Given the description of an element on the screen output the (x, y) to click on. 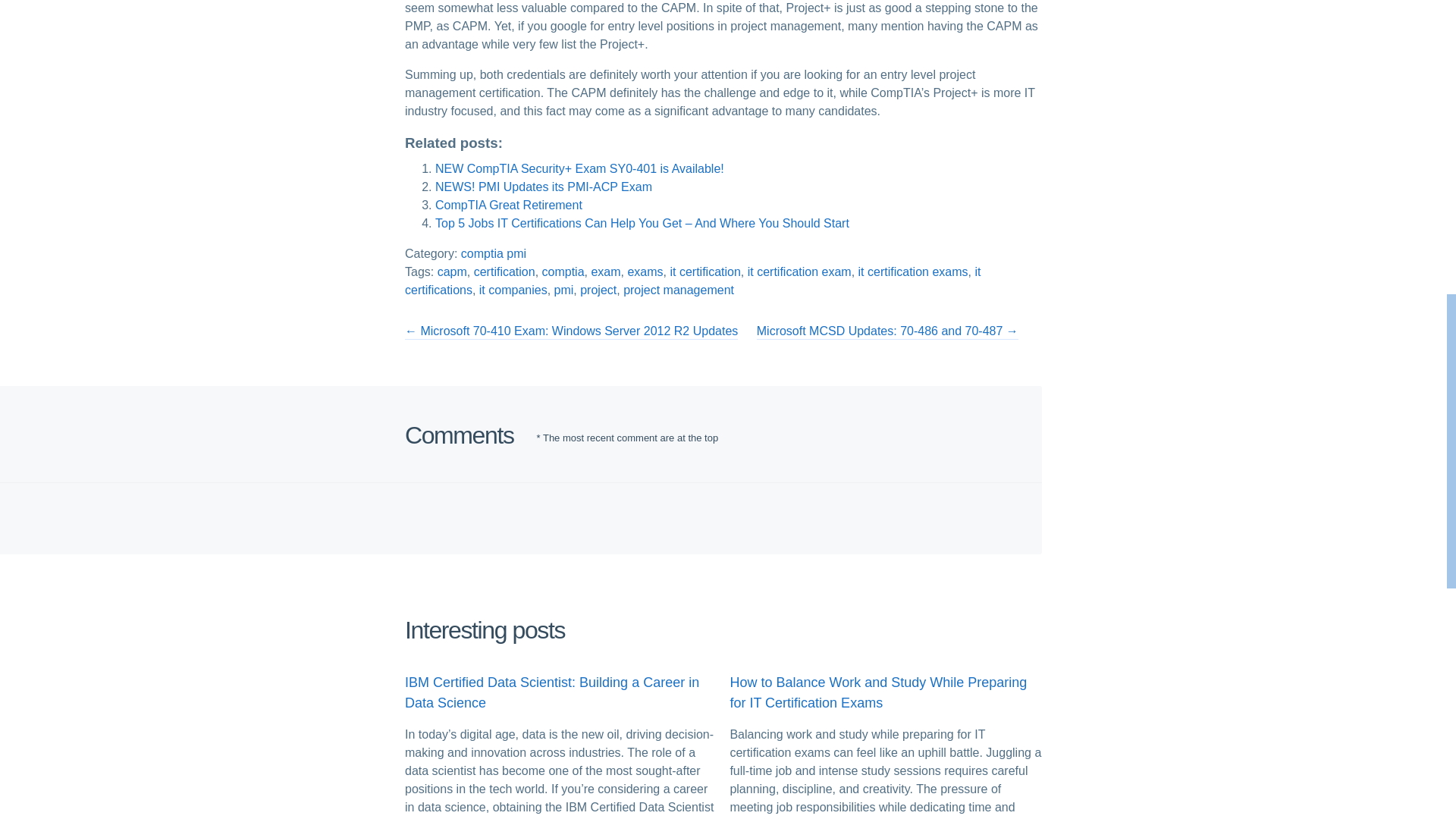
certification (504, 272)
CompTIA Great Retirement (508, 206)
NEWS! PMI Updates its PMI-ACP Exam (543, 187)
it certification exam (799, 272)
it certification (704, 272)
pmi (515, 254)
pmi (563, 290)
